Given the description of an element on the screen output the (x, y) to click on. 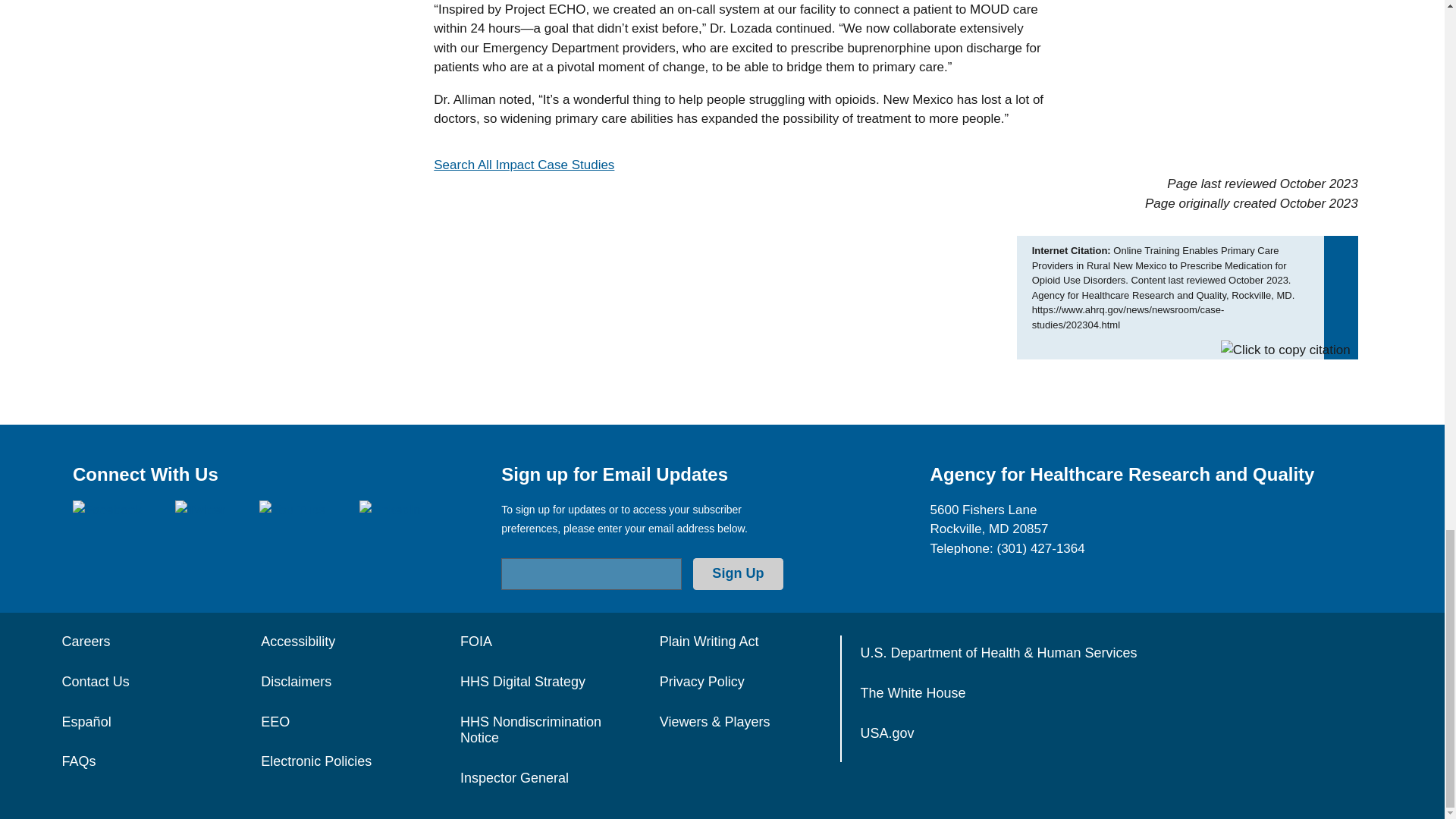
Click to Copy Citation (1286, 350)
Sign Up (738, 573)
